Given the description of an element on the screen output the (x, y) to click on. 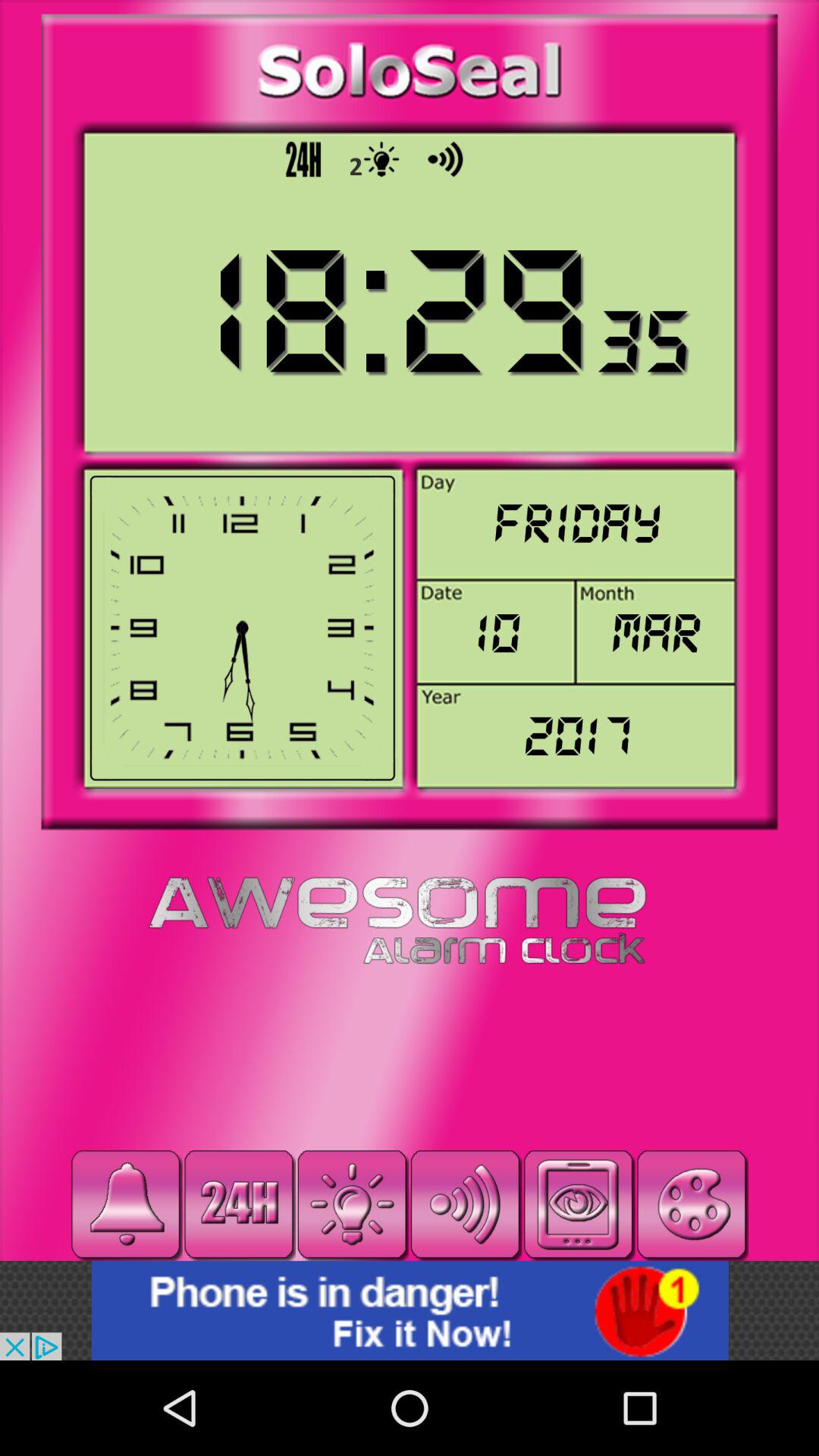
go to sound increase (465, 1203)
